Given the description of an element on the screen output the (x, y) to click on. 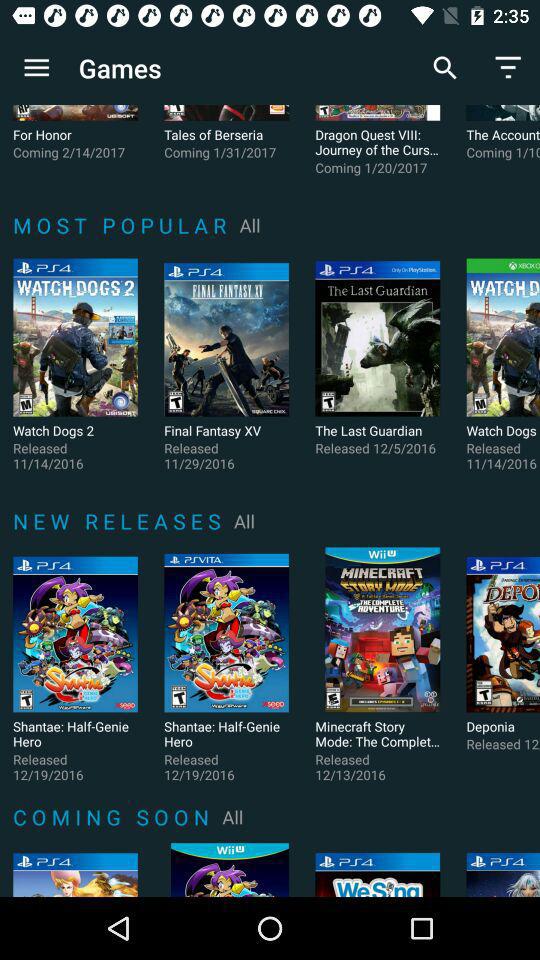
turn on app to the left of games icon (36, 68)
